Given the description of an element on the screen output the (x, y) to click on. 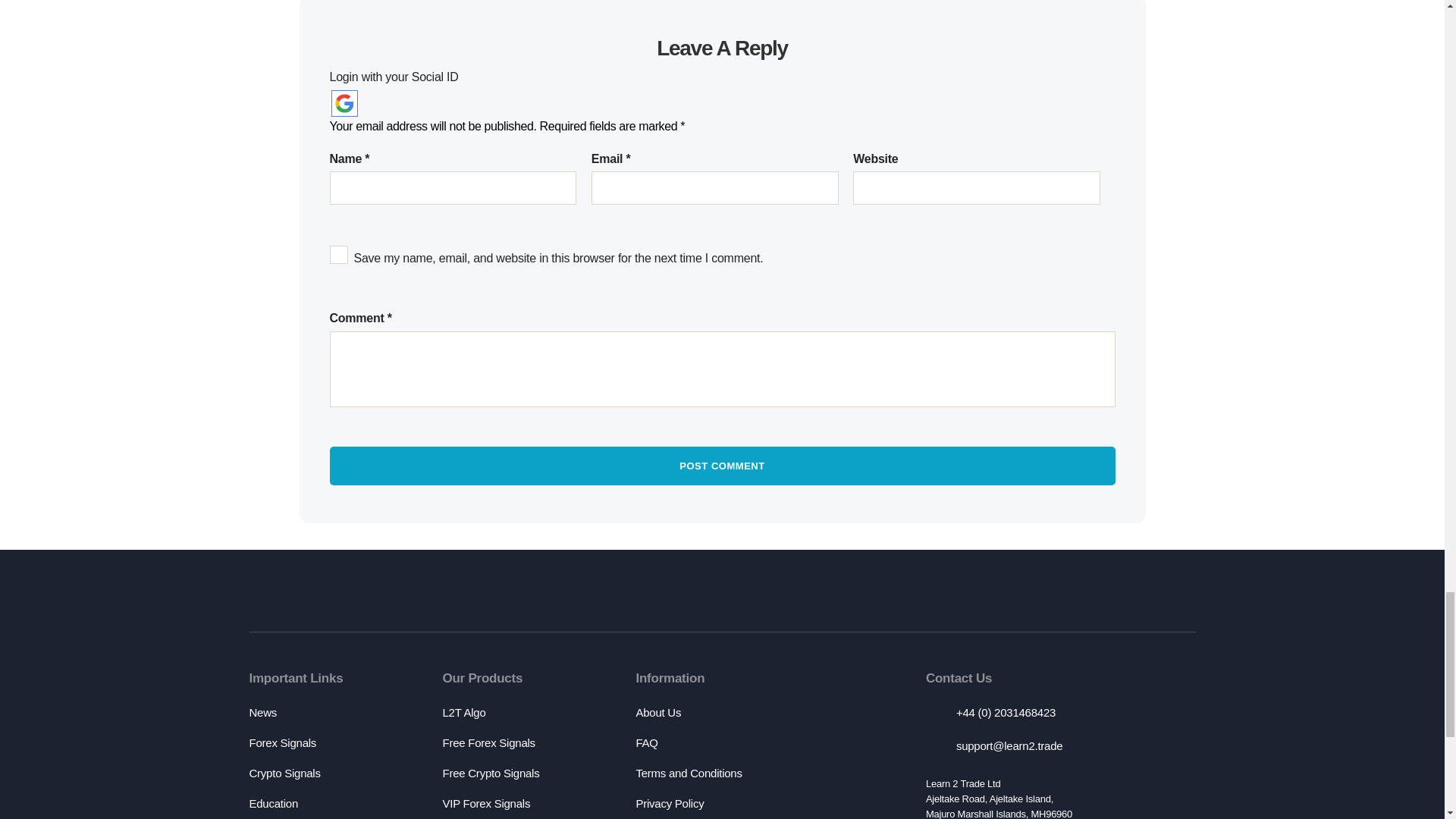
Login with Google (343, 103)
yes (338, 254)
Post Comment (722, 465)
